Given the description of an element on the screen output the (x, y) to click on. 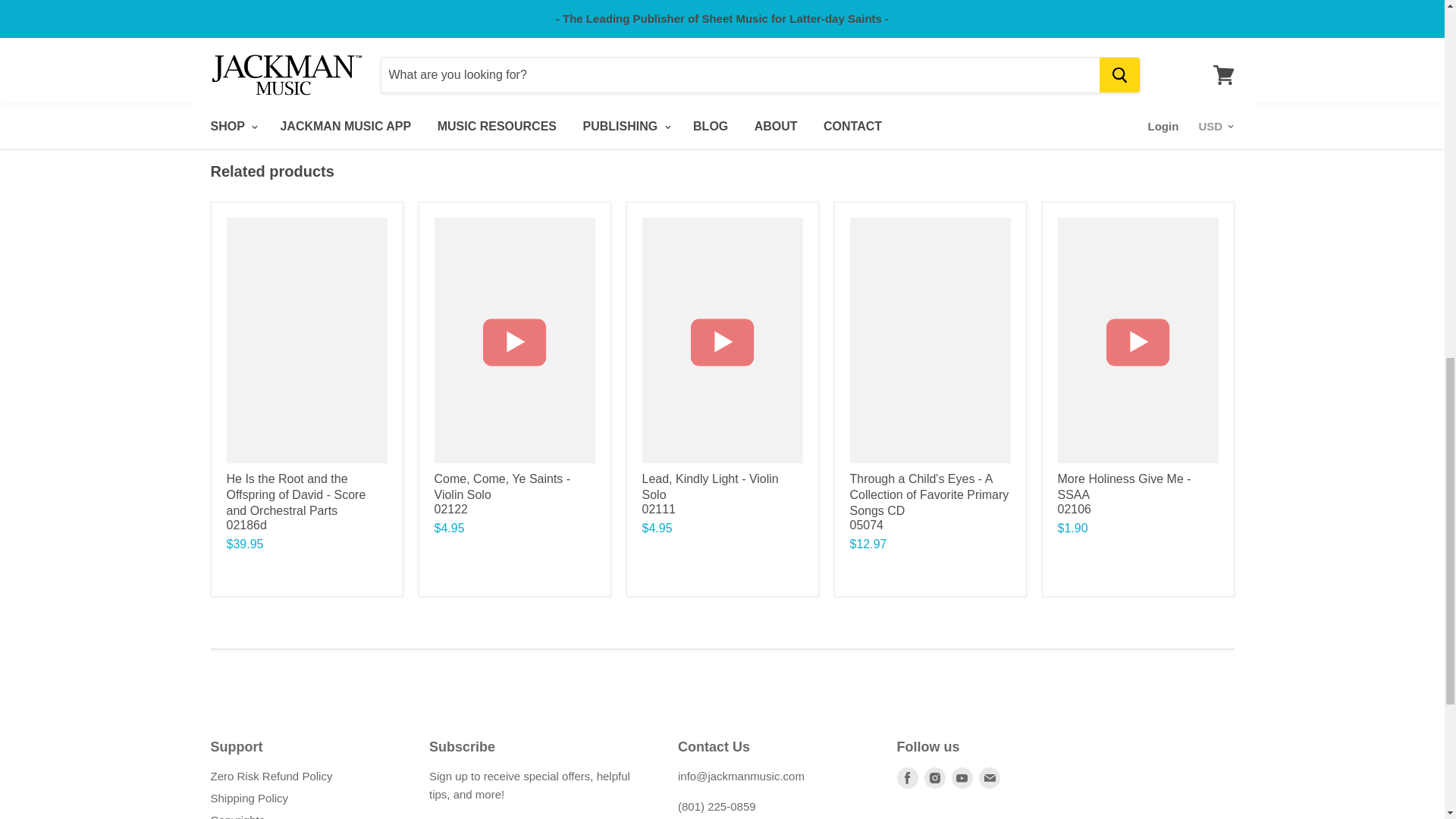
Facebook (906, 777)
Youtube (961, 777)
E-mail (989, 777)
Instagram (933, 777)
